Given the description of an element on the screen output the (x, y) to click on. 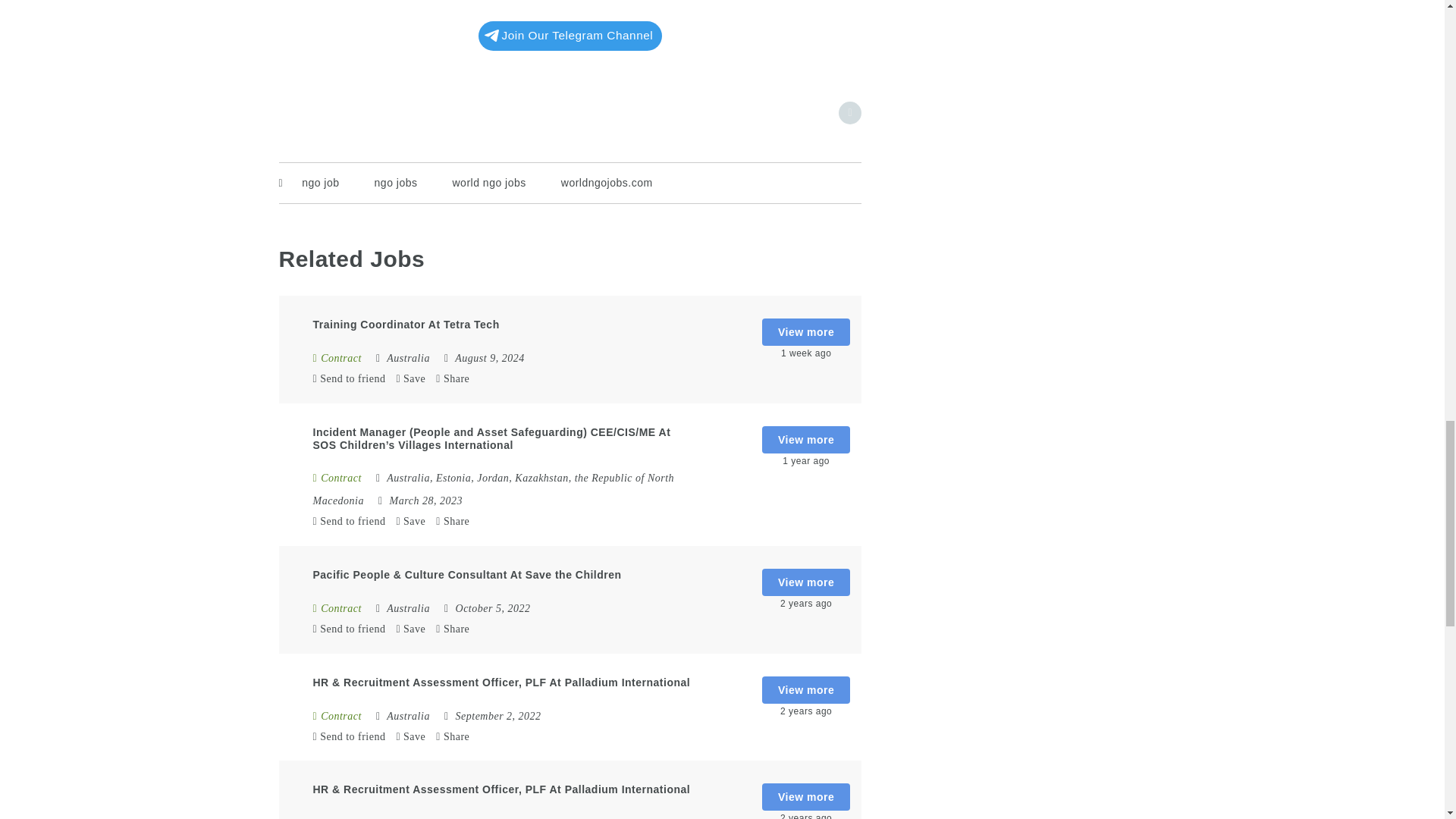
world ngo jobs (488, 182)
Permanent link to: "Training Coordinator At Tetra Tech" (406, 324)
worldngojobs.com (606, 182)
Contract (337, 478)
Contract (337, 357)
Bookmark Job (849, 112)
Training Coordinator At Tetra Tech (406, 324)
ngo jobs (395, 182)
Join Our Telegram Channel (570, 35)
ngo job (319, 182)
